Given the description of an element on the screen output the (x, y) to click on. 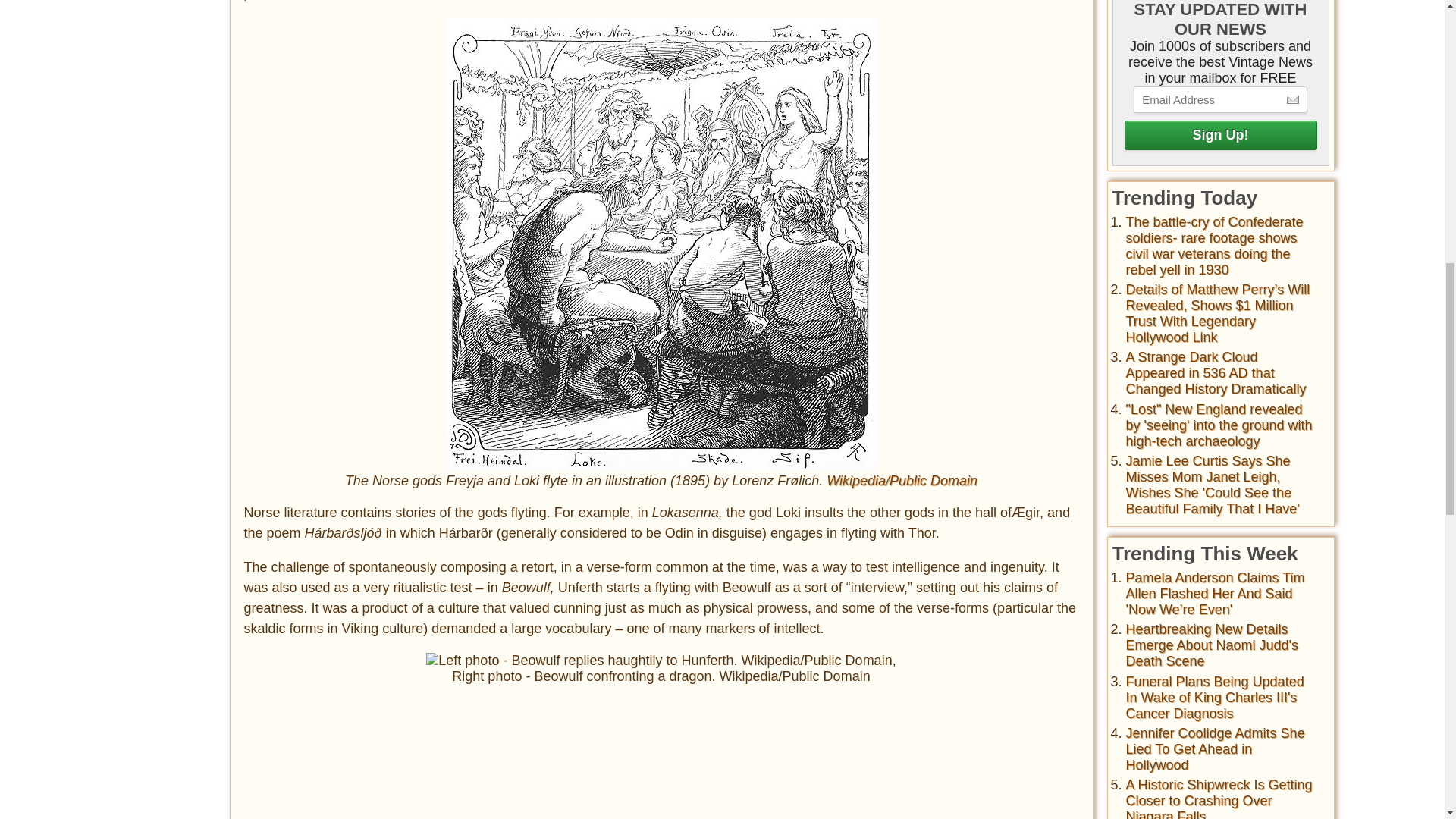
Sign Up! (1220, 134)
